Given the description of an element on the screen output the (x, y) to click on. 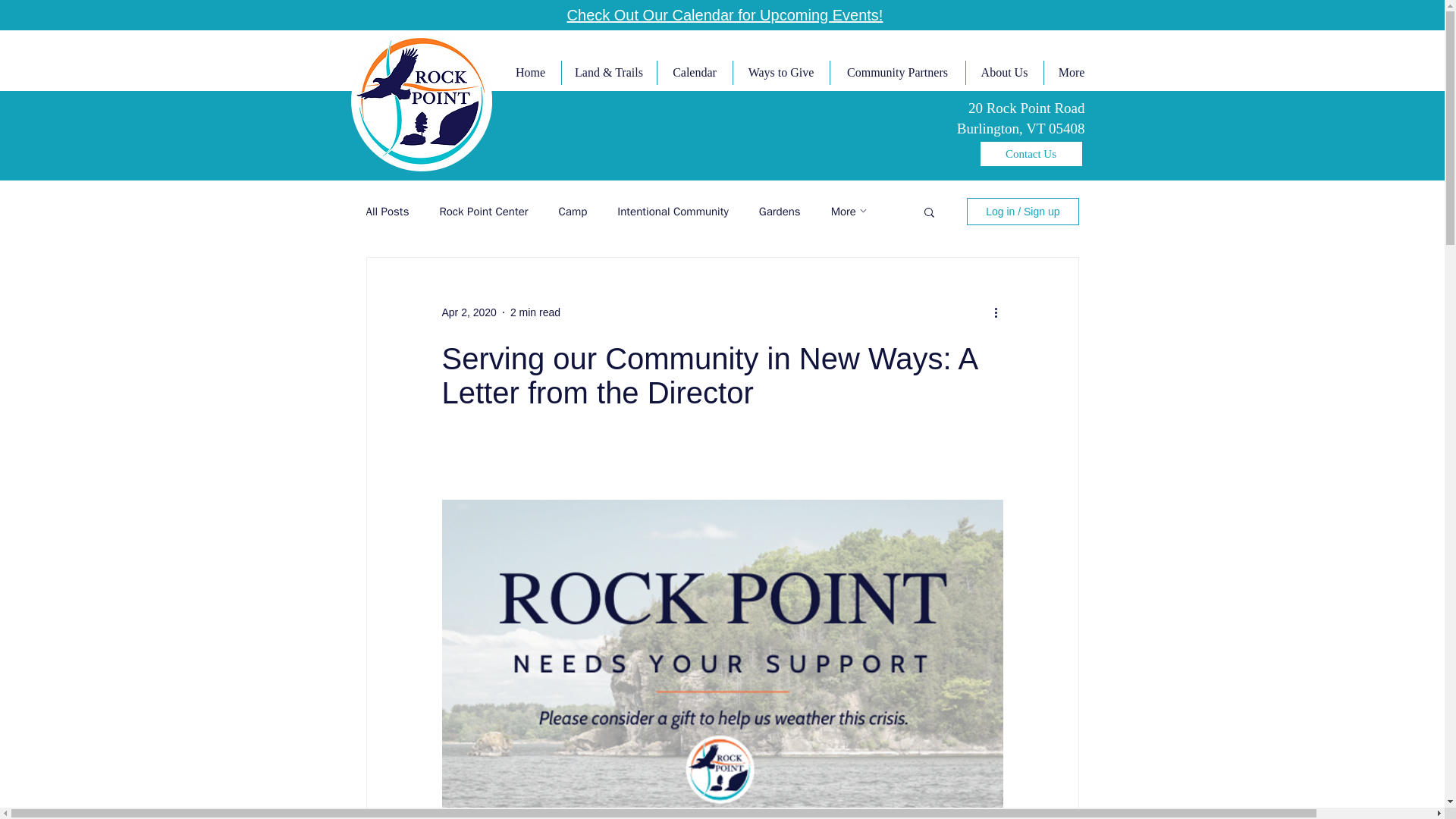
Camp (573, 211)
Intentional Community (672, 211)
Gardens (779, 211)
Contact Us (1030, 153)
Ways to Give (780, 72)
Calendar (694, 72)
Apr 2, 2020 (468, 312)
About Us (1002, 72)
2 min read (535, 312)
Check Out Our Calendar for Upcoming Events! (725, 14)
